Given the description of an element on the screen output the (x, y) to click on. 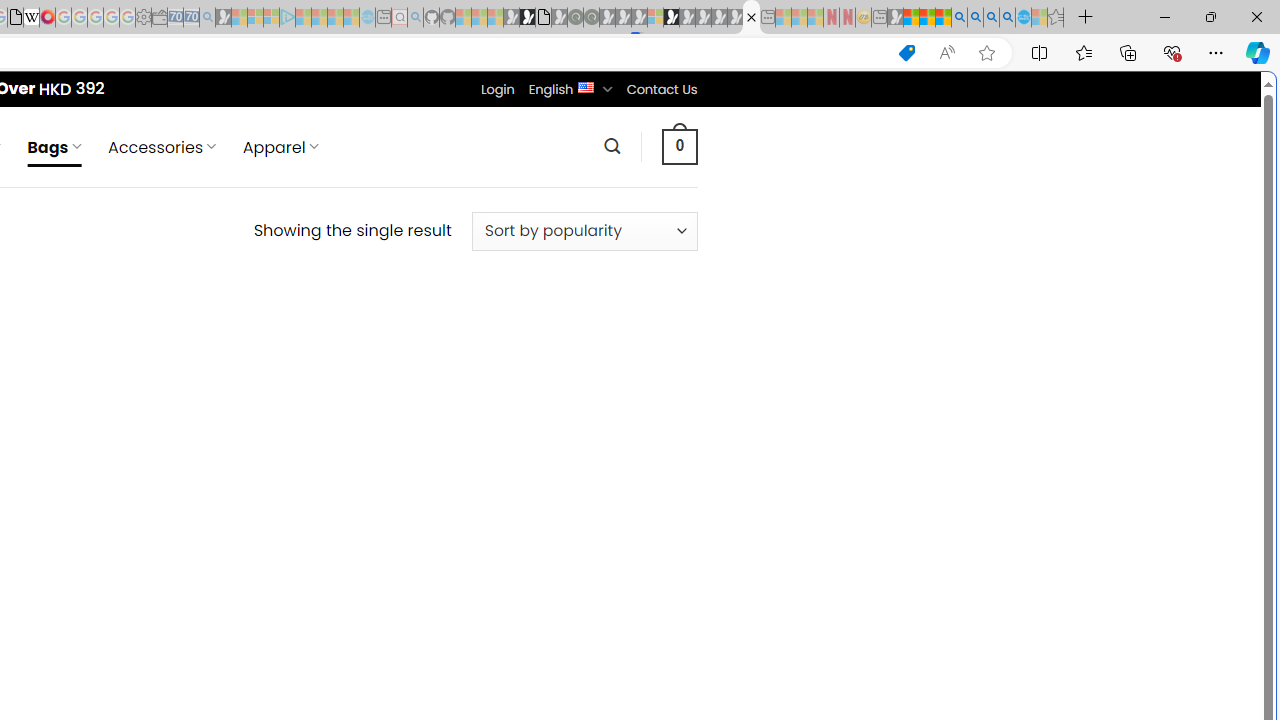
Nordace - Cooler Bags (751, 17)
